Given the description of an element on the screen output the (x, y) to click on. 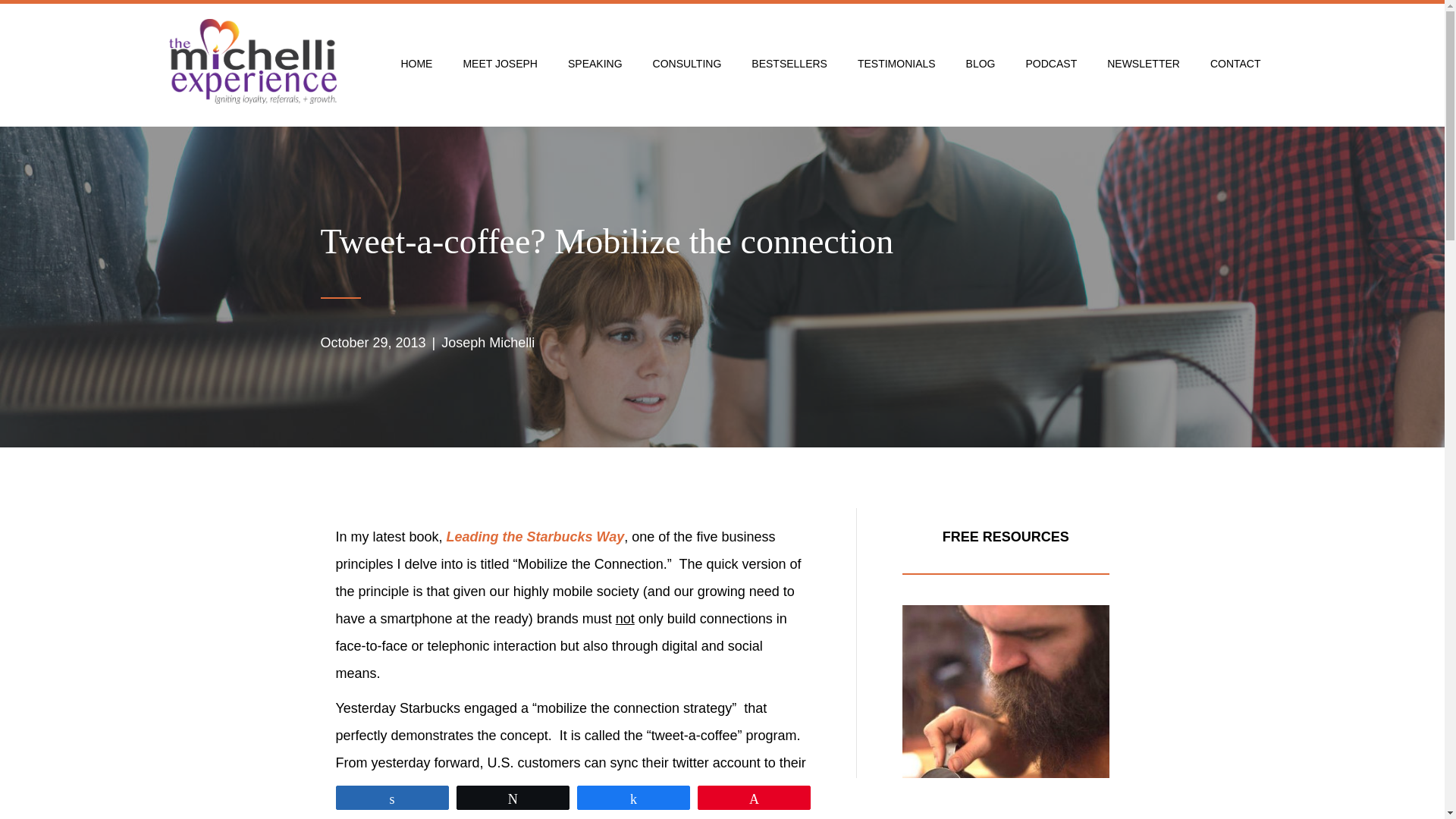
TESTIMONIALS (896, 63)
TME logo March 2018 (252, 61)
Leading the Starbucks Way (535, 536)
Joseph Michelli (487, 342)
CONSULTING (686, 63)
HOME (415, 63)
NEWSLETTER (1143, 63)
CONTACT (1235, 63)
SPEAKING (595, 63)
PODCAST (1051, 63)
BESTSELLERS (789, 63)
MEET JOSEPH (499, 63)
The Starbucks Experience: Leadership Tips eBook (1005, 712)
BLOG (980, 63)
